Given the description of an element on the screen output the (x, y) to click on. 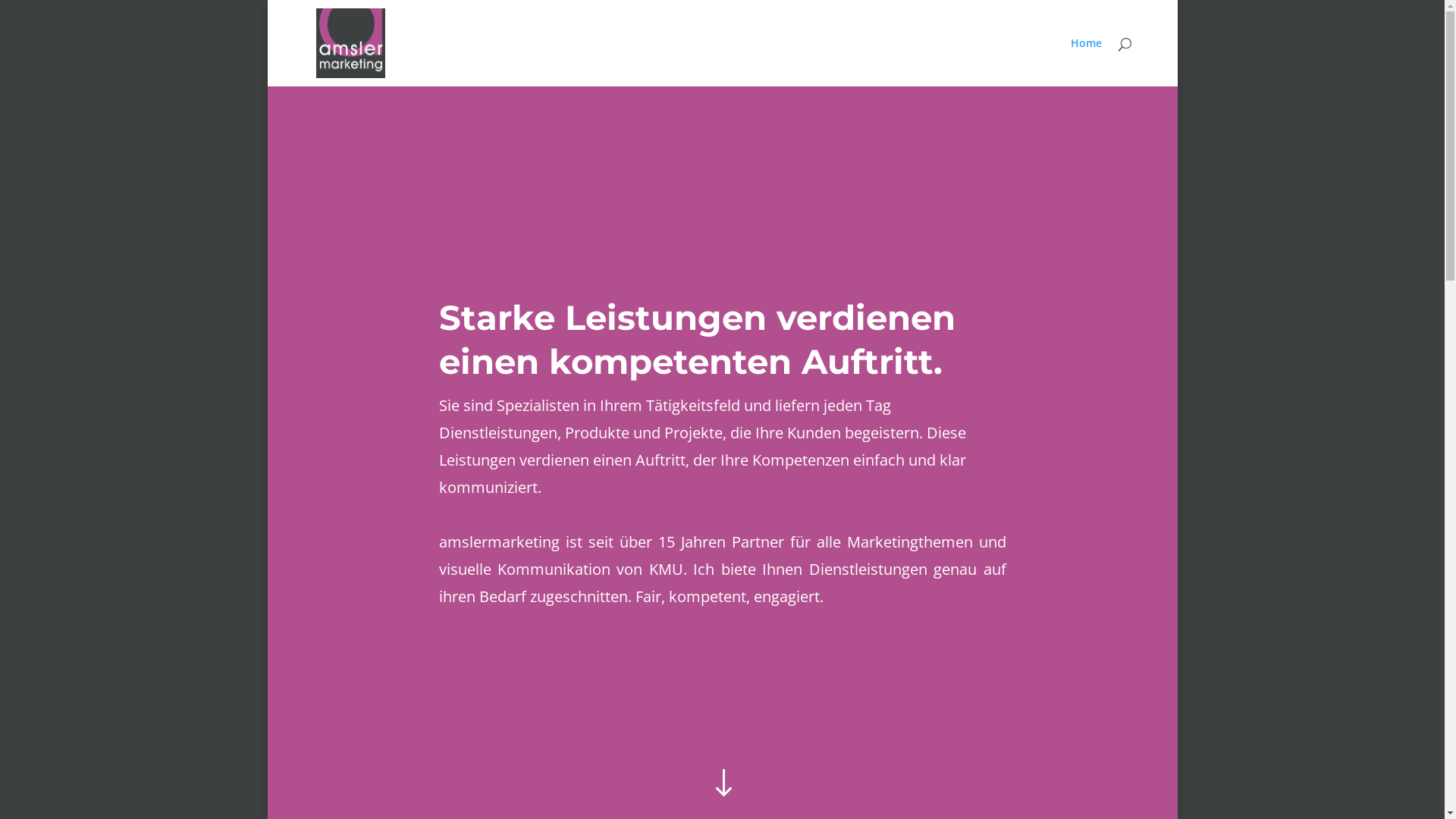
" Element type: text (721, 783)
Home Element type: text (1085, 61)
